Given the description of an element on the screen output the (x, y) to click on. 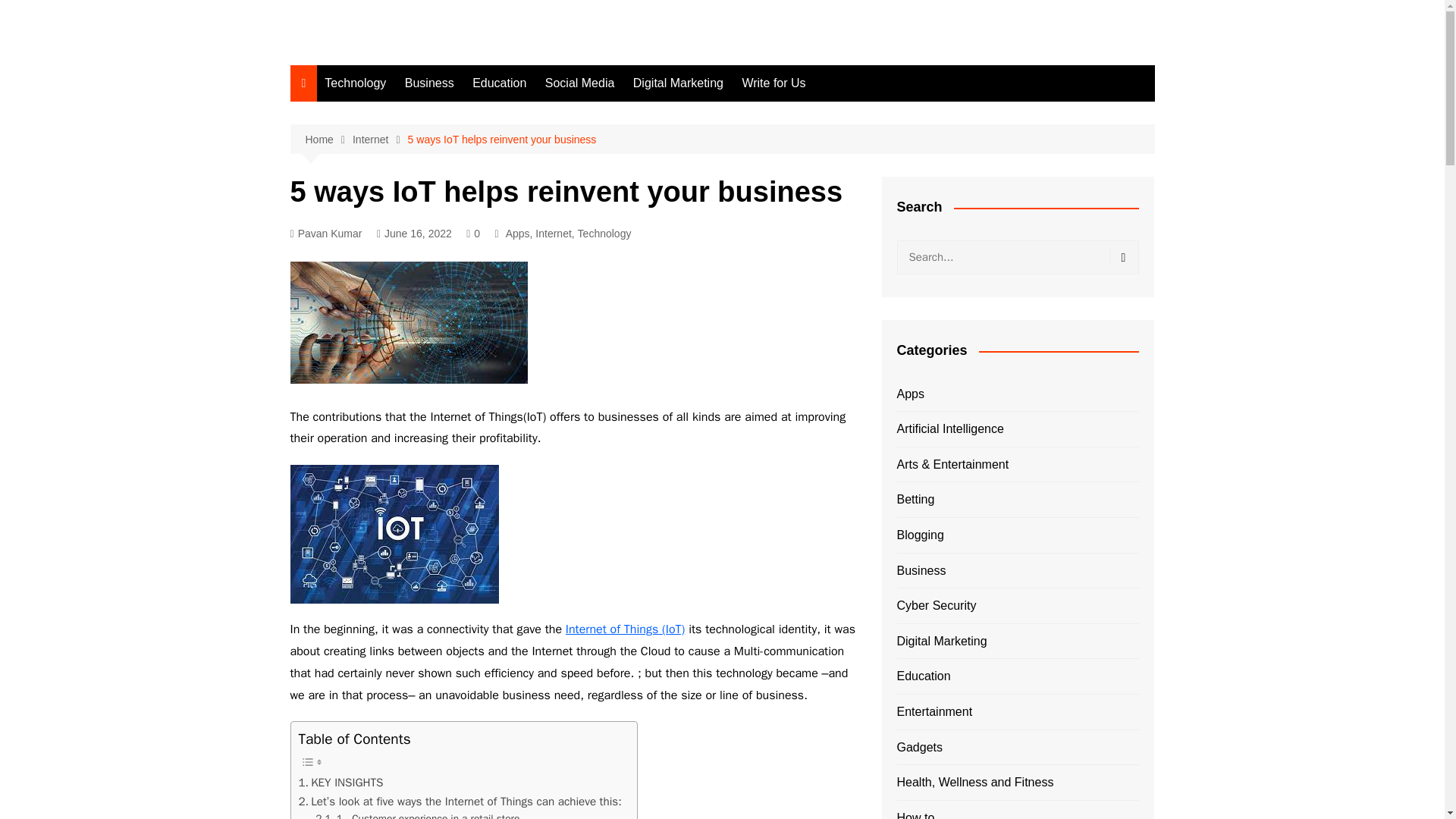
1.- Customer experience in a retail store (417, 814)
Internet (379, 139)
KEY INSIGHTS (341, 782)
Internet (552, 233)
Pavan Kumar (325, 233)
KEY INSIGHTS (341, 782)
Social Media (580, 83)
Technology (355, 83)
Digital Marketing (678, 83)
Education (499, 83)
